Given the description of an element on the screen output the (x, y) to click on. 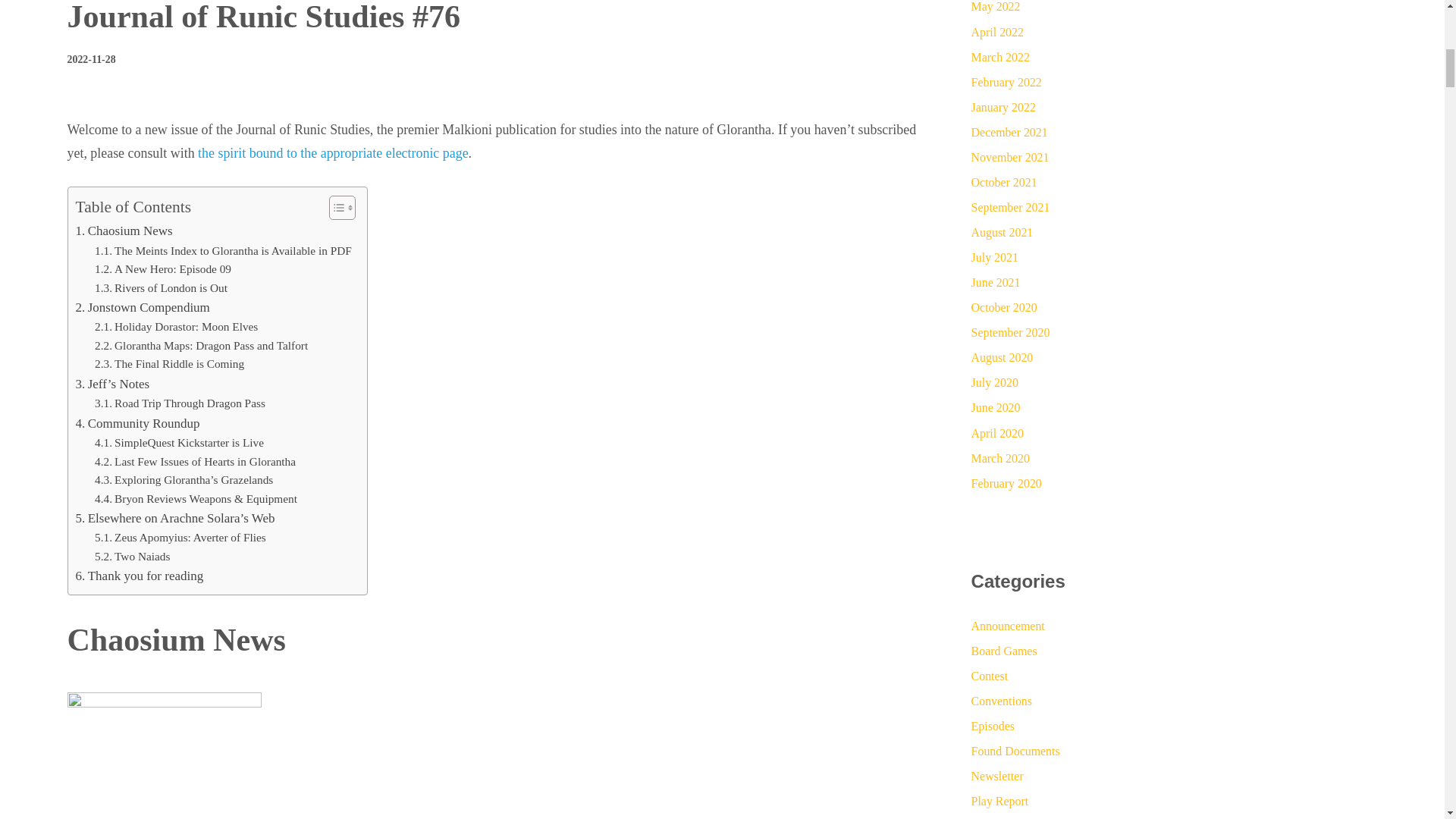
Road Trip Through Dragon Pass (179, 403)
Rivers of London is Out (160, 288)
The Meints Index to Glorantha is Available in PDF (223, 251)
Glorantha Maps: Dragon Pass and Talfort (200, 345)
Community Roundup (137, 423)
The Meints Index to Glorantha is Available in PDF (223, 251)
the spirit bound to the appropriate electronic page (331, 152)
The Final Riddle is Coming (169, 363)
Chaosium News (124, 230)
Rivers of London is Out (160, 288)
